Given the description of an element on the screen output the (x, y) to click on. 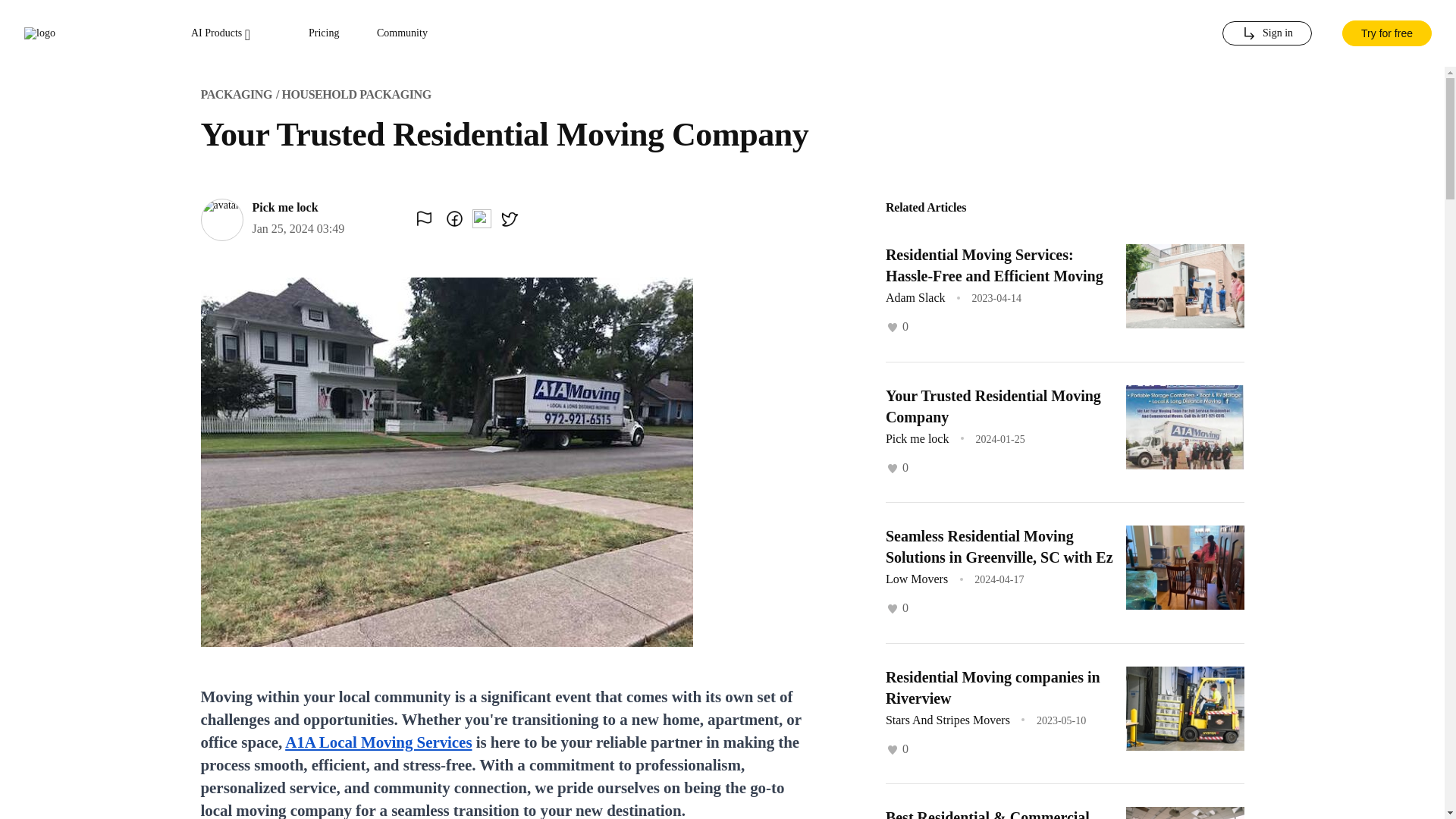
PACKAGING (235, 93)
HOUSEHOLD PACKAGING (356, 93)
Your Trusted Residential Moving Company (992, 405)
 Sign in (1267, 33)
Try for free (1386, 32)
Residential Moving companies in Riverview (992, 687)
Community (402, 33)
Pricing (323, 33)
